Given the description of an element on the screen output the (x, y) to click on. 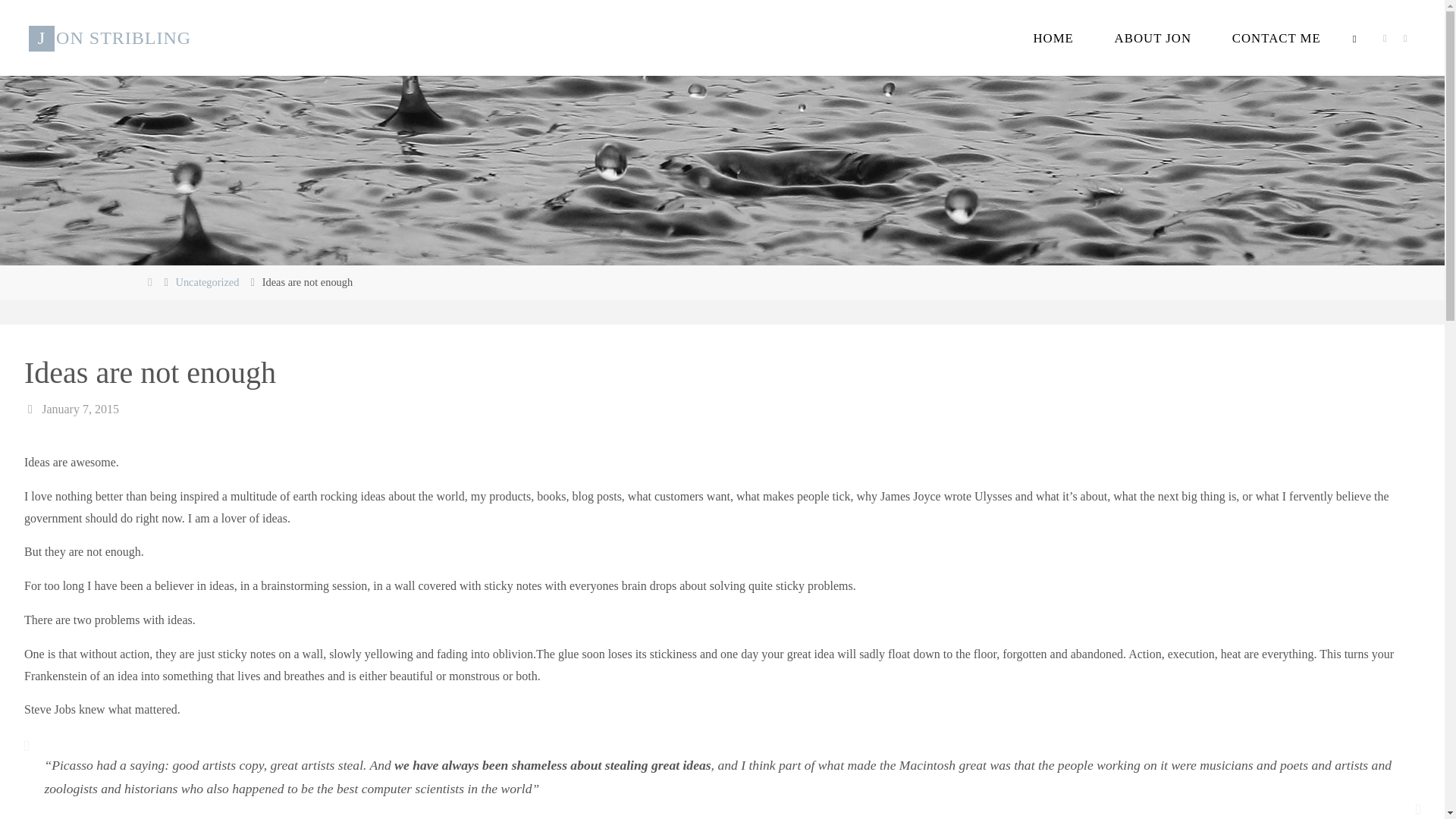
My own piece of the Internet (109, 37)
JON STRIBLING (109, 37)
CONTACT ME (1275, 38)
Date (31, 408)
Uncategorized (208, 282)
HOME (1053, 38)
ABOUT JON (1152, 38)
